Given the description of an element on the screen output the (x, y) to click on. 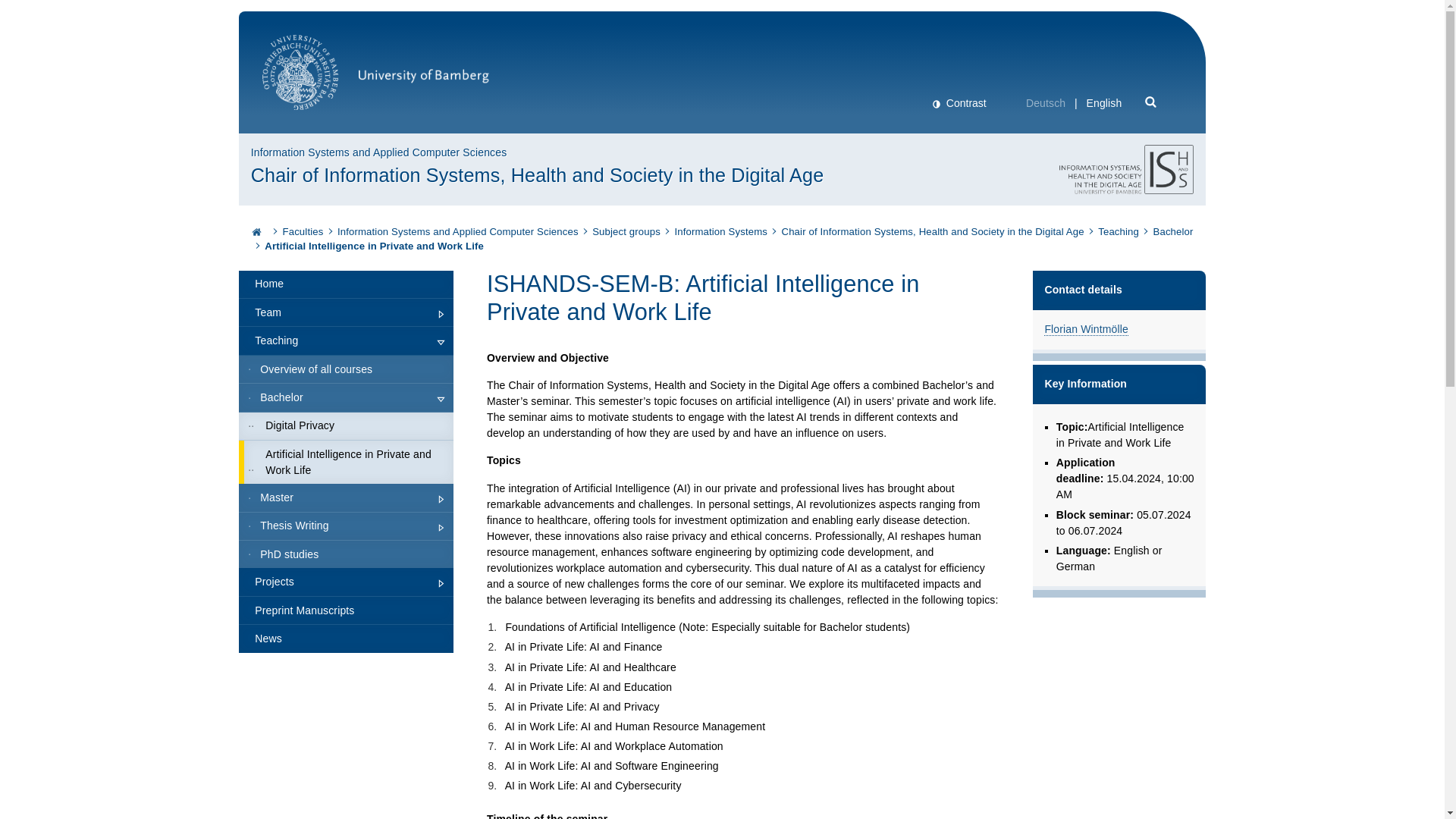
Contrast (959, 103)
Faculties (302, 232)
Information Systems and Applied Computer Sciences (457, 232)
Deutsch (1045, 103)
Information Systems and Applied Computer Sciences (378, 152)
Bachelor (1173, 232)
Home (345, 284)
  University of Bamberg (375, 79)
Subject groups (626, 232)
Information Systems (720, 232)
Information Systems and Applied Computer Sciences (457, 232)
